Given the description of an element on the screen output the (x, y) to click on. 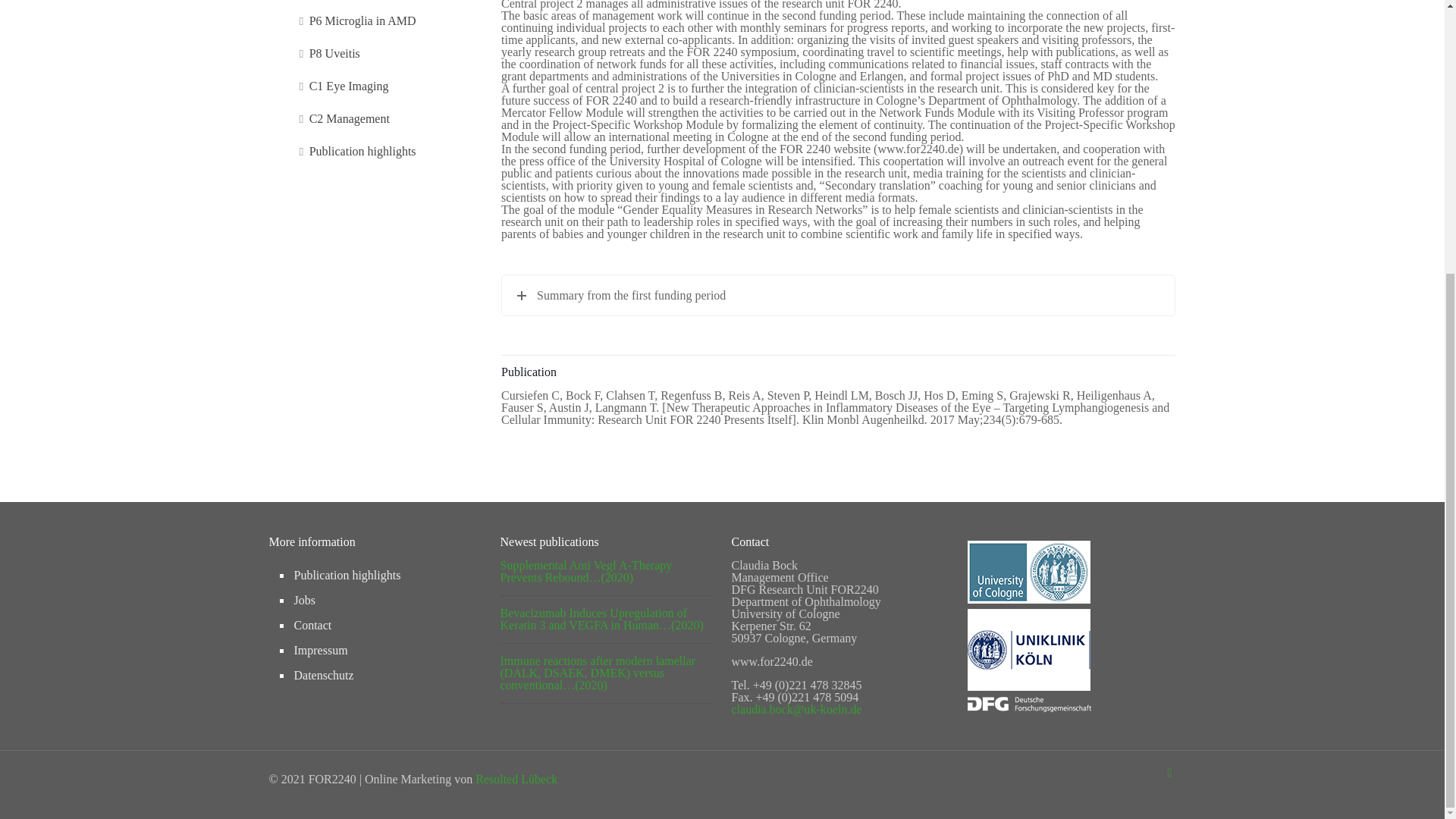
P6 Microglia in AMD (388, 21)
P8 Uveitis (388, 53)
